Given the description of an element on the screen output the (x, y) to click on. 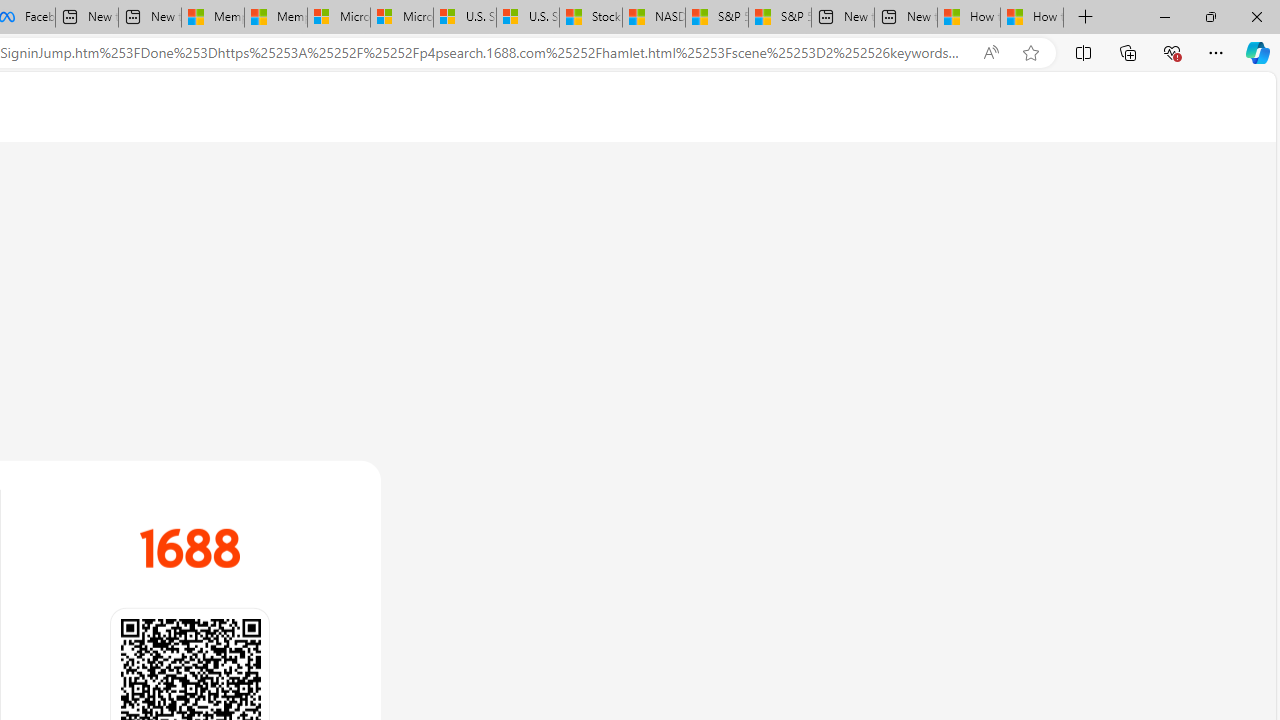
Copilot (Ctrl+Shift+.) (1258, 52)
Split screen (1083, 52)
Browser essentials (1171, 52)
New Tab (1085, 17)
Close (1256, 16)
New tab (905, 17)
How to Use a Monitor With Your Closed Laptop (1032, 17)
Settings and more (Alt+F) (1215, 52)
Add this page to favorites (Ctrl+D) (1030, 53)
Restore (1210, 16)
